Given the description of an element on the screen output the (x, y) to click on. 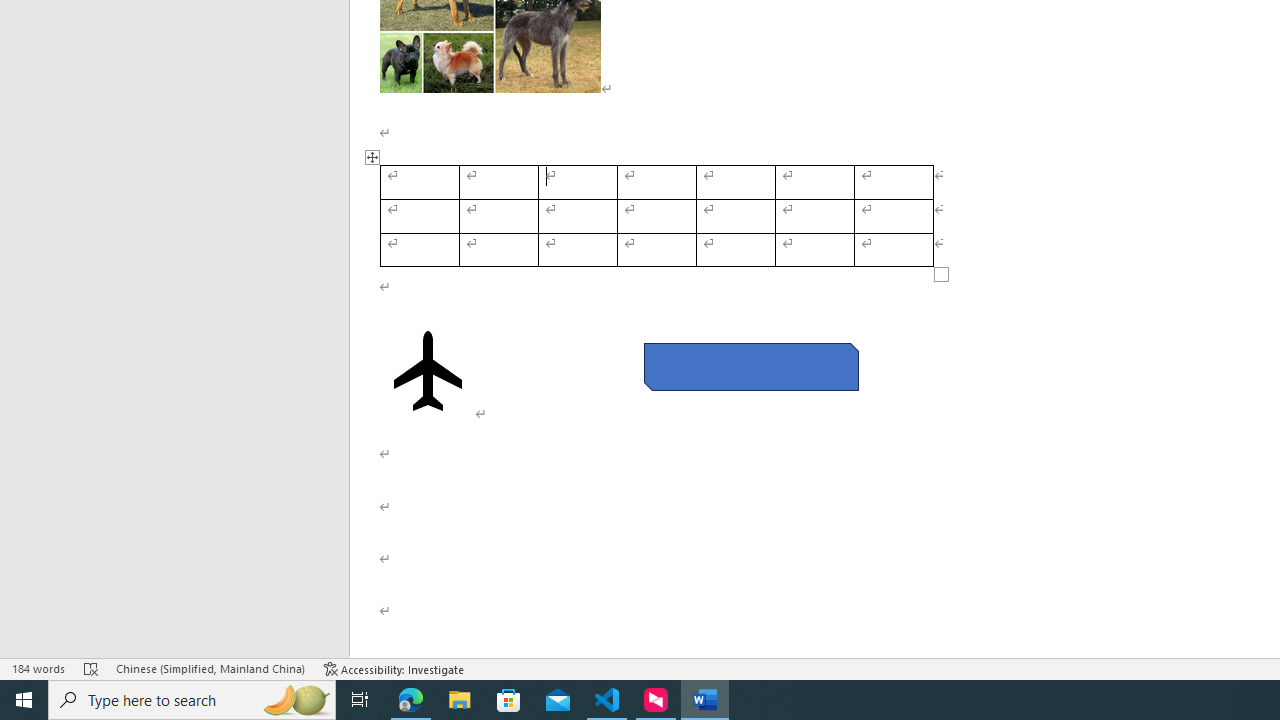
Language Chinese (Simplified, Mainland China) (210, 668)
Word Count 184 words (37, 668)
Spelling and Grammar Check Errors (91, 668)
Airplane with solid fill (428, 371)
Accessibility Checker Accessibility: Investigate (394, 668)
Rectangle: Diagonal Corners Snipped 2 (750, 366)
